Given the description of an element on the screen output the (x, y) to click on. 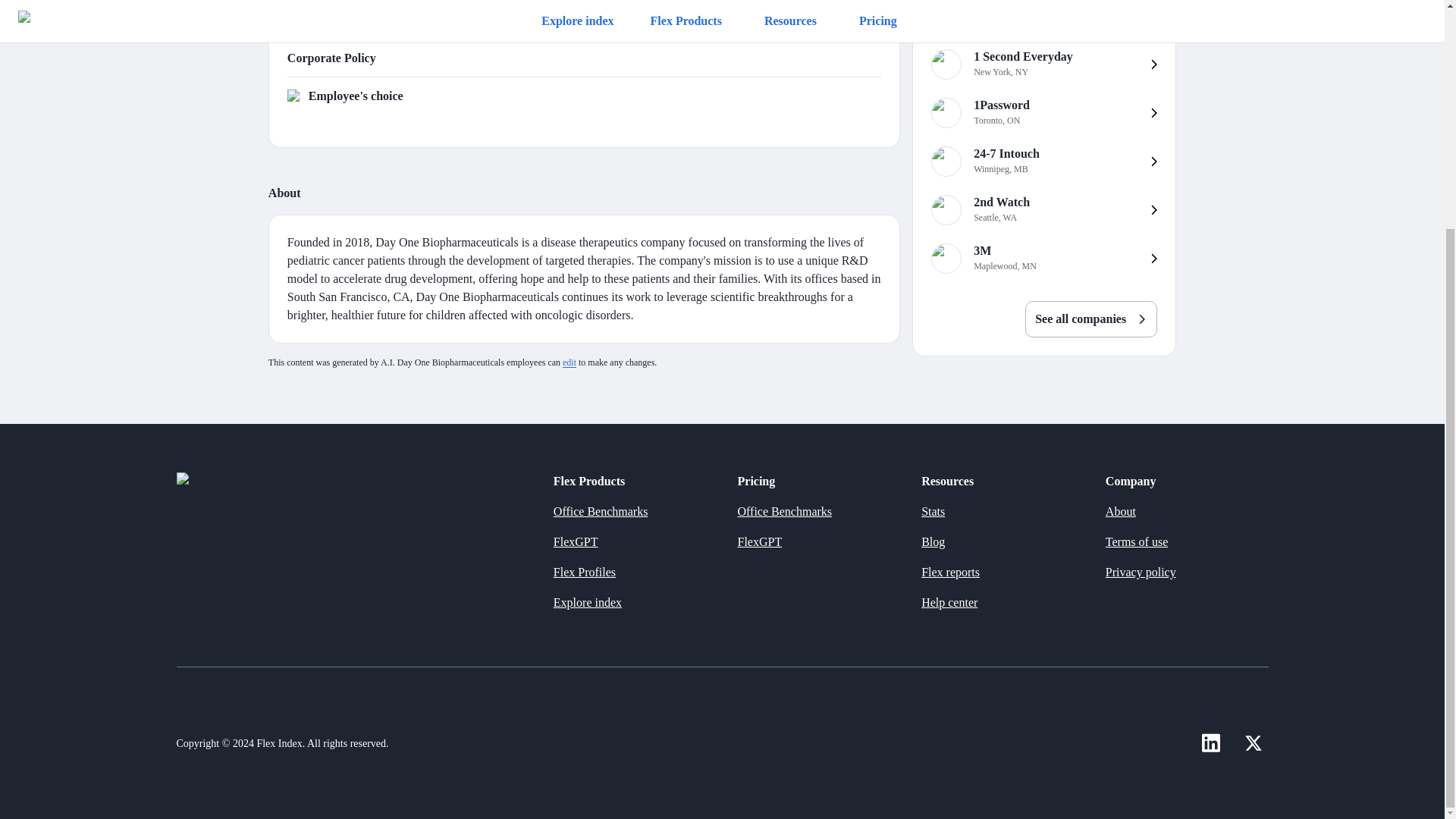
FlexGPT (575, 542)
Flex Profiles (1043, 209)
Office Benchmarks (584, 572)
edit (1043, 112)
See all companies (1043, 258)
Office Benchmarks (601, 511)
Explore index (569, 362)
See all companies (1091, 319)
